Given the description of an element on the screen output the (x, y) to click on. 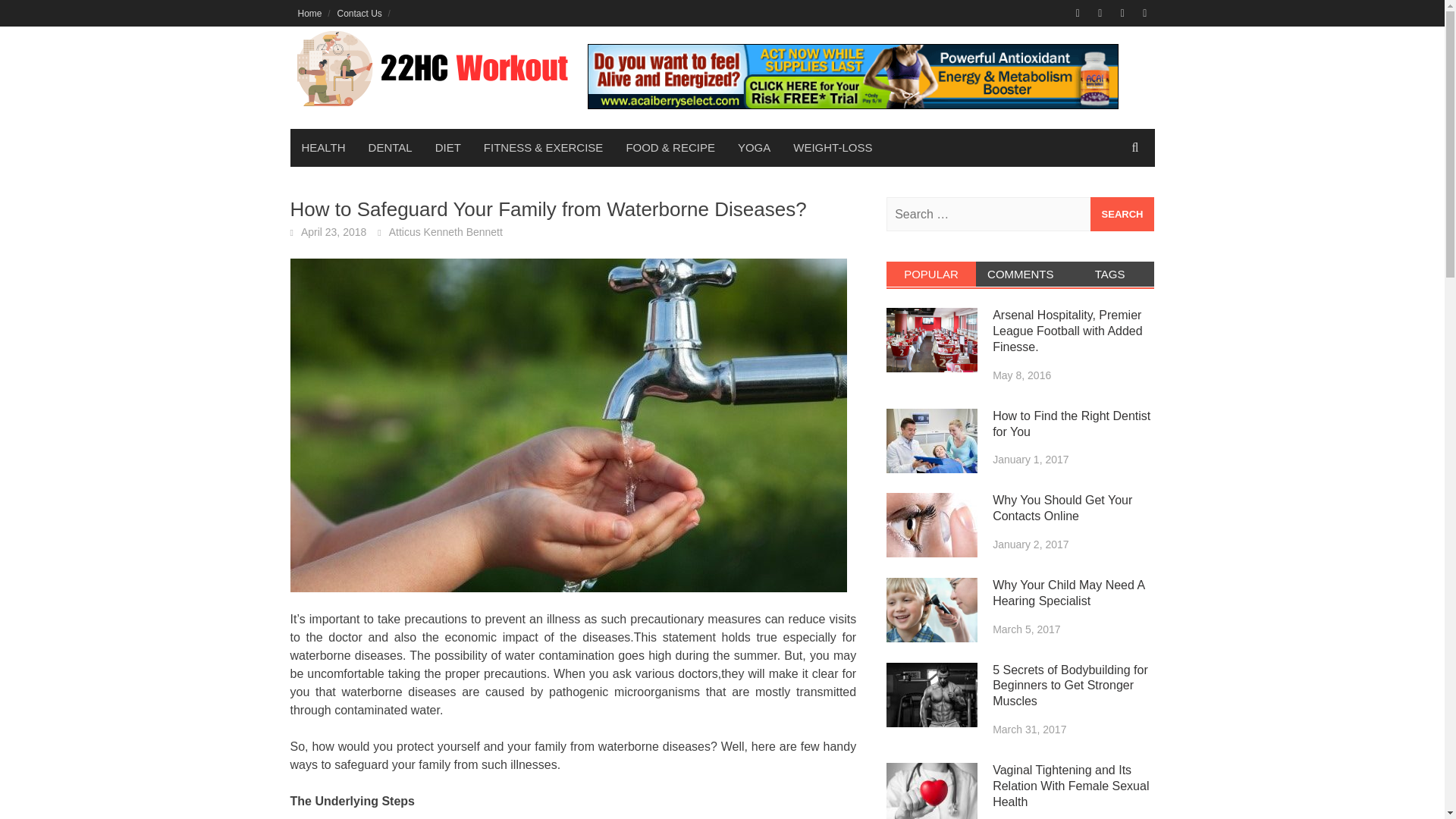
POPULAR (930, 273)
Contact Us (360, 13)
Search (1122, 213)
YOGA (753, 147)
WEIGHT-LOSS (832, 147)
DIET (447, 147)
Home (309, 13)
Why You Should Get Your Contacts Online (931, 525)
TAGS (1109, 273)
